Given the description of an element on the screen output the (x, y) to click on. 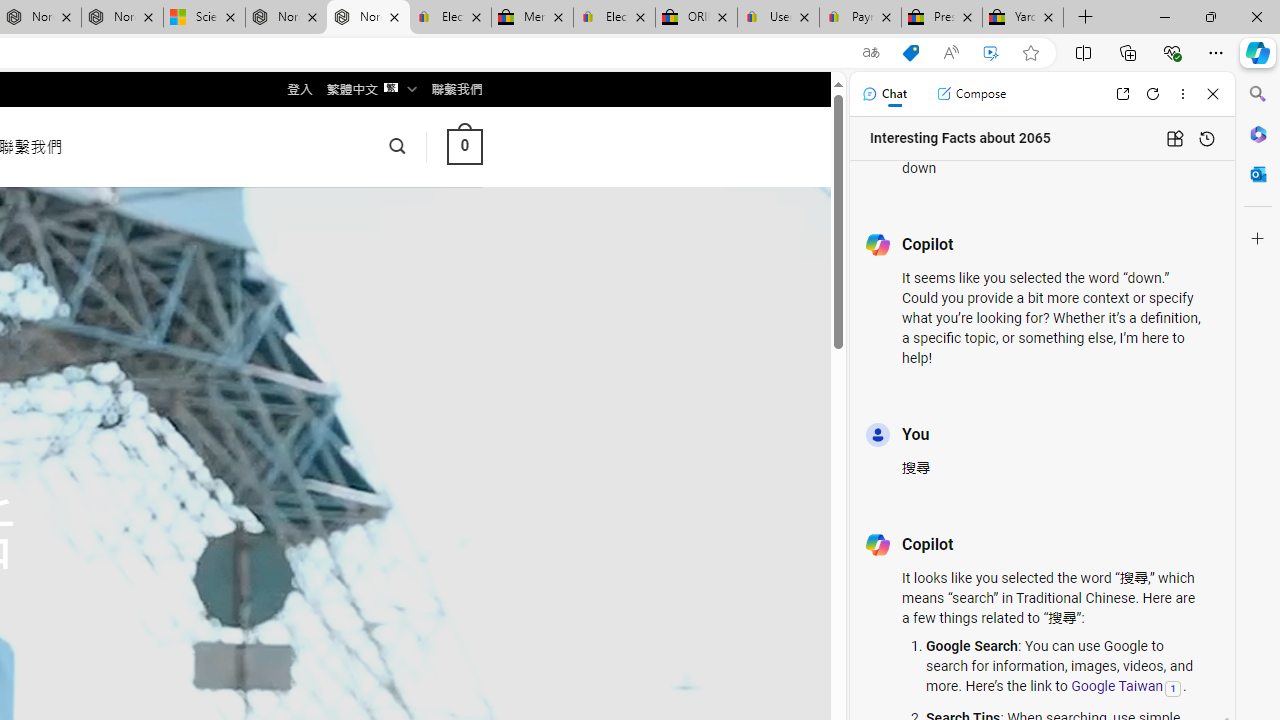
User Privacy Notice | eBay (778, 17)
Press Room - eBay Inc. (941, 17)
